Given the description of an element on the screen output the (x, y) to click on. 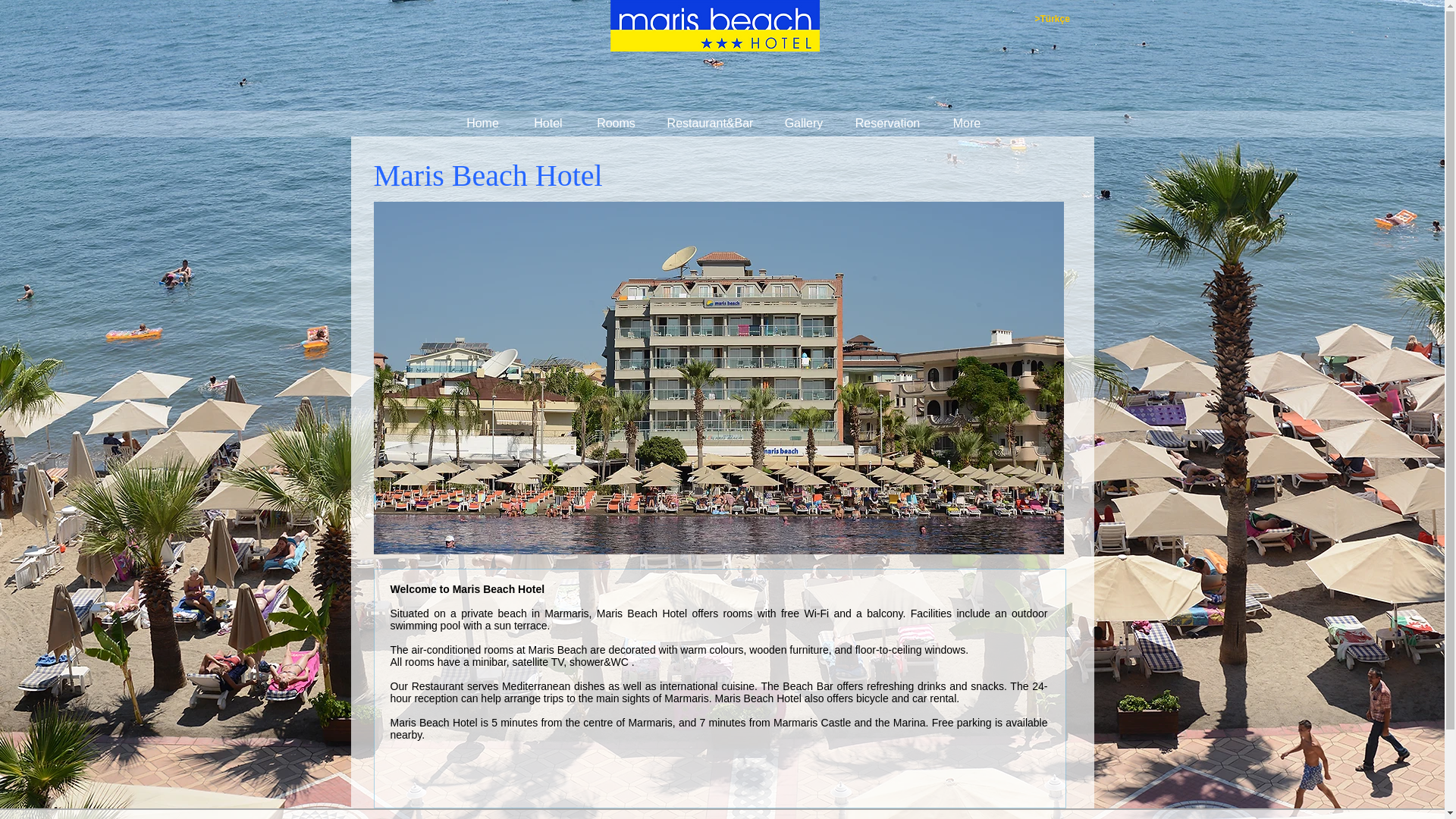
Hotel (547, 123)
Gallery (804, 123)
Reservation (887, 123)
Rooms (616, 123)
Home (481, 123)
